Given the description of an element on the screen output the (x, y) to click on. 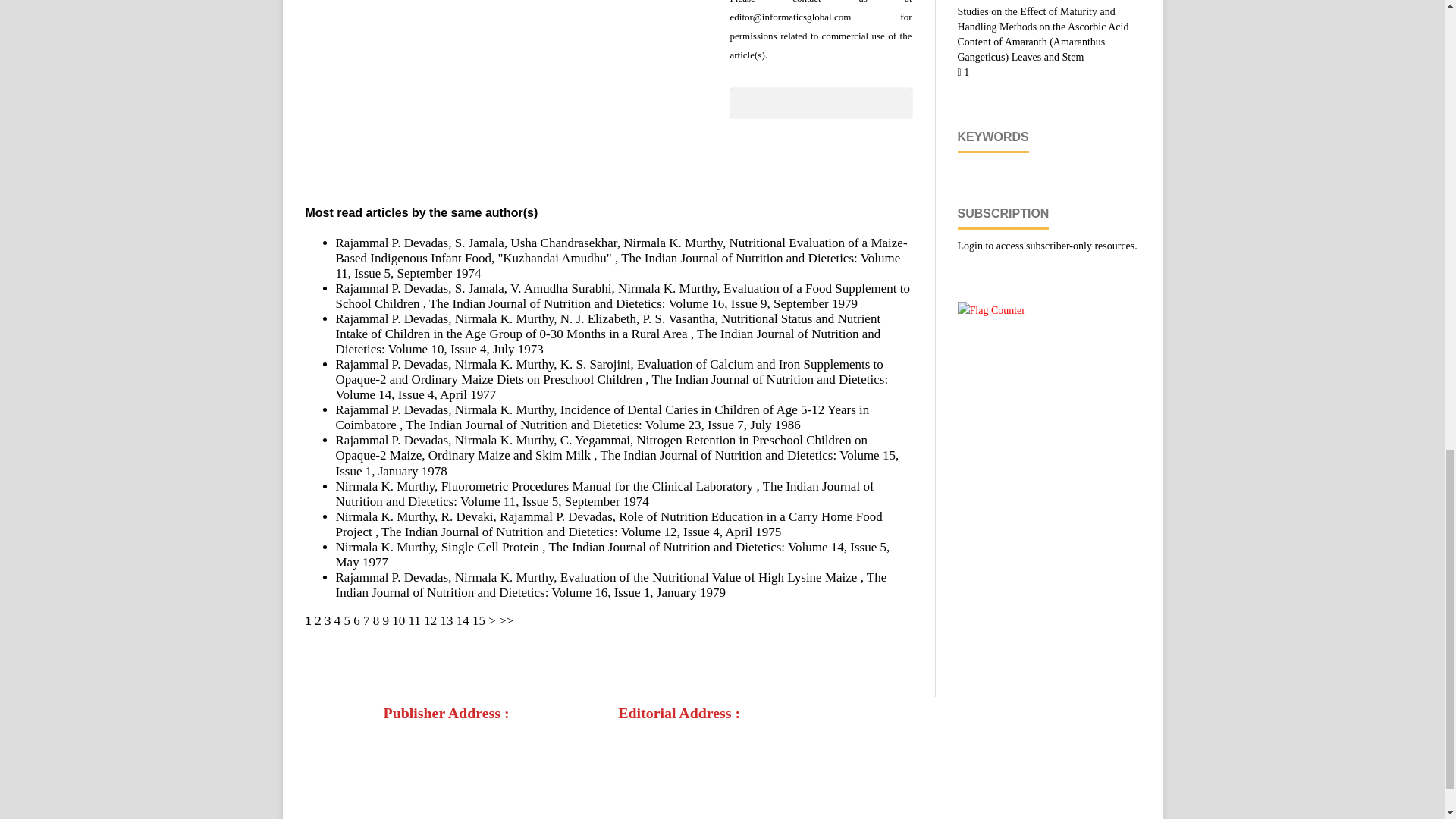
wd-cursor-light (389, 729)
wd-envelope-light (389, 805)
wd-phone-light (389, 775)
